Given the description of an element on the screen output the (x, y) to click on. 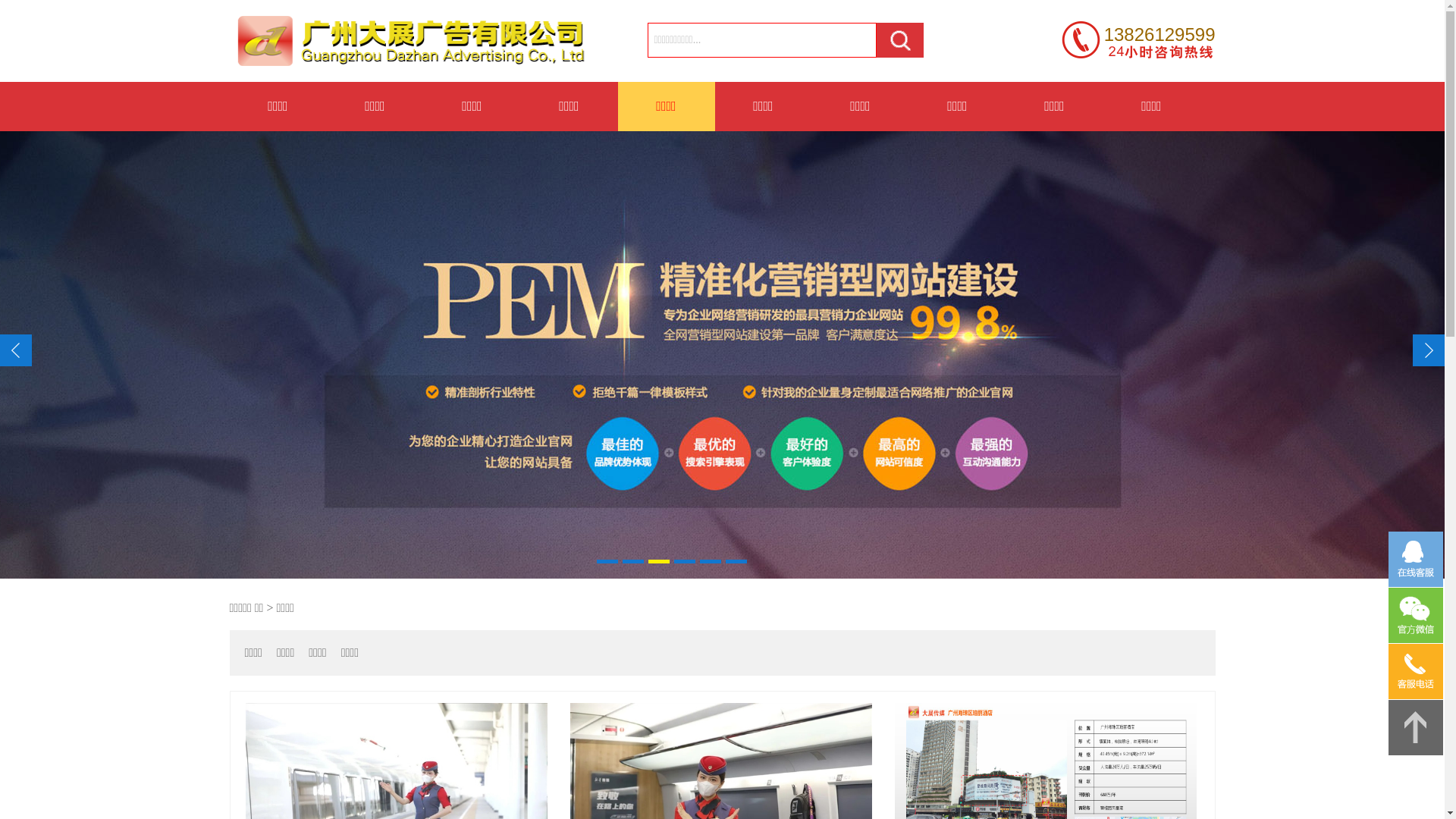
2 Element type: text (632, 561)
5 Element type: text (710, 561)
1 Element type: text (607, 561)
6 Element type: text (735, 561)
3 Element type: text (658, 561)
4 Element type: text (684, 561)
